Given the description of an element on the screen output the (x, y) to click on. 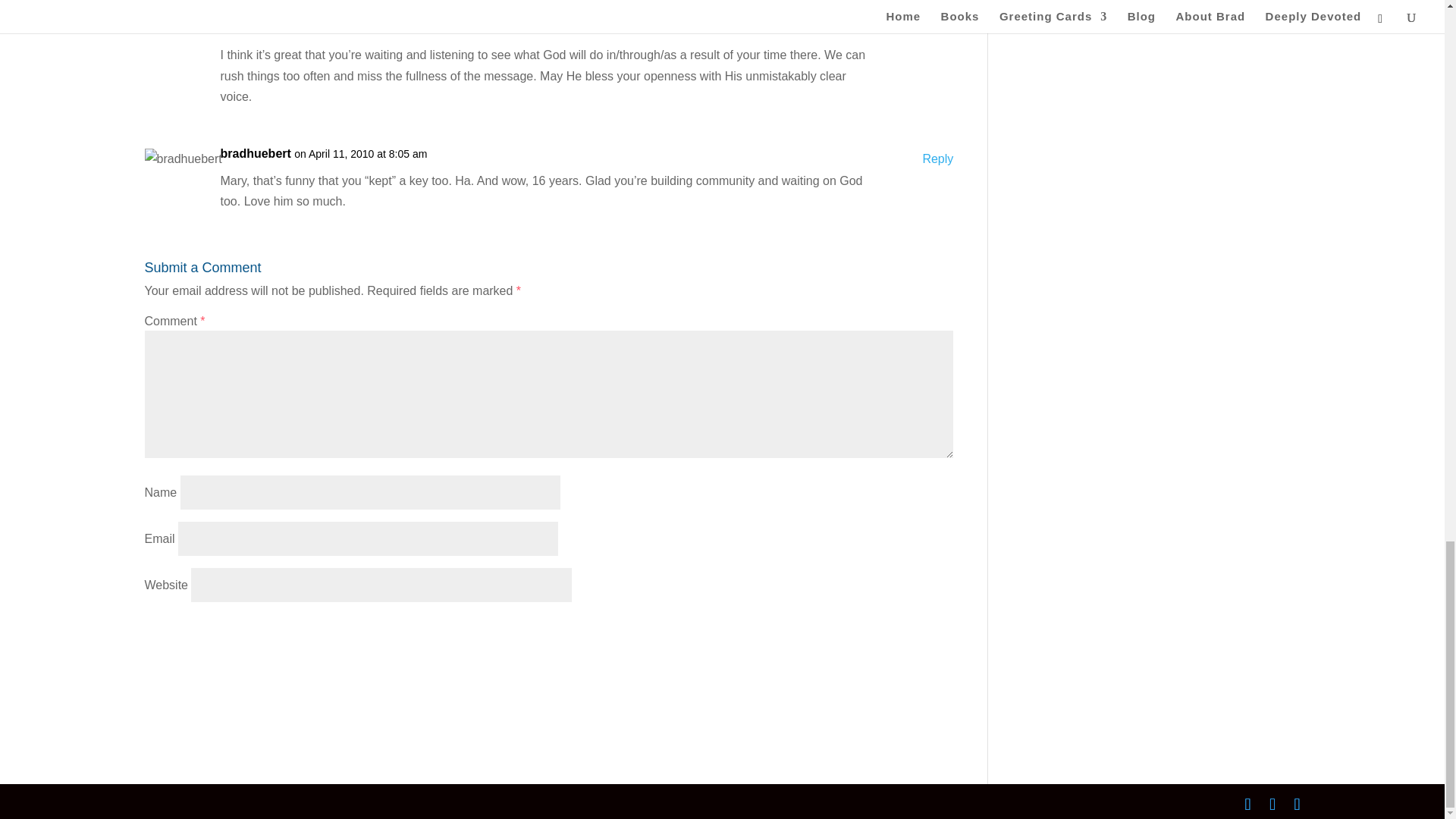
Reply (937, 158)
Submit Comment (878, 632)
bradhuebert (254, 153)
Submit Comment (878, 632)
